Given the description of an element on the screen output the (x, y) to click on. 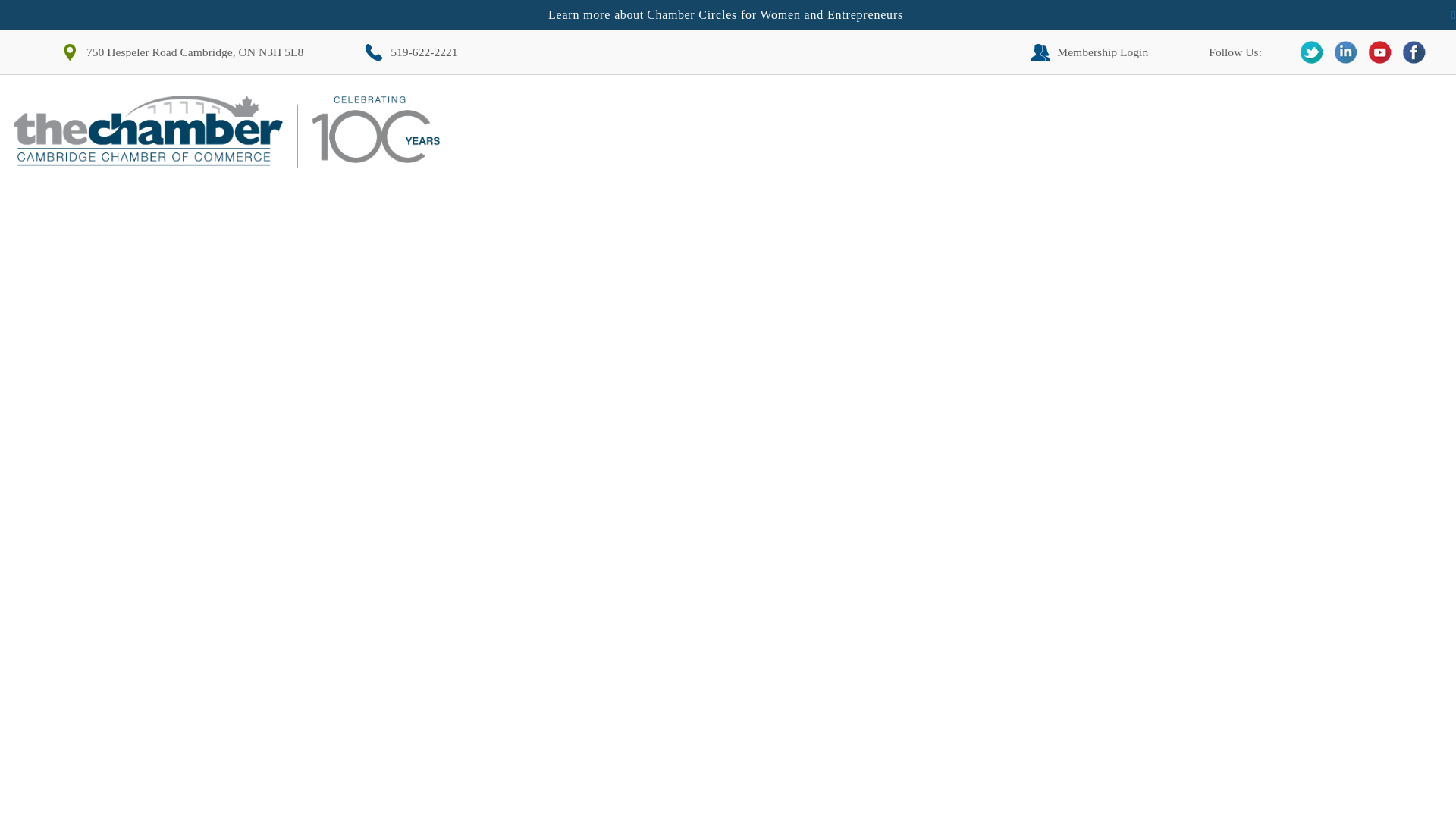
Member Login (1089, 52)
LinkedIn (1345, 51)
Facebook (1414, 51)
X (1311, 51)
Call (410, 52)
Membership Login (1089, 52)
YouTube (1379, 51)
519-622-2221 (410, 52)
Learn more (579, 14)
Cambridge Chamber of Commerce (232, 131)
Circles for Women and Entrepreneurs (800, 14)
750 Hespeler Road Cambridge, ON N3H 5L8 (182, 52)
View Google Map (182, 52)
